Given the description of an element on the screen output the (x, y) to click on. 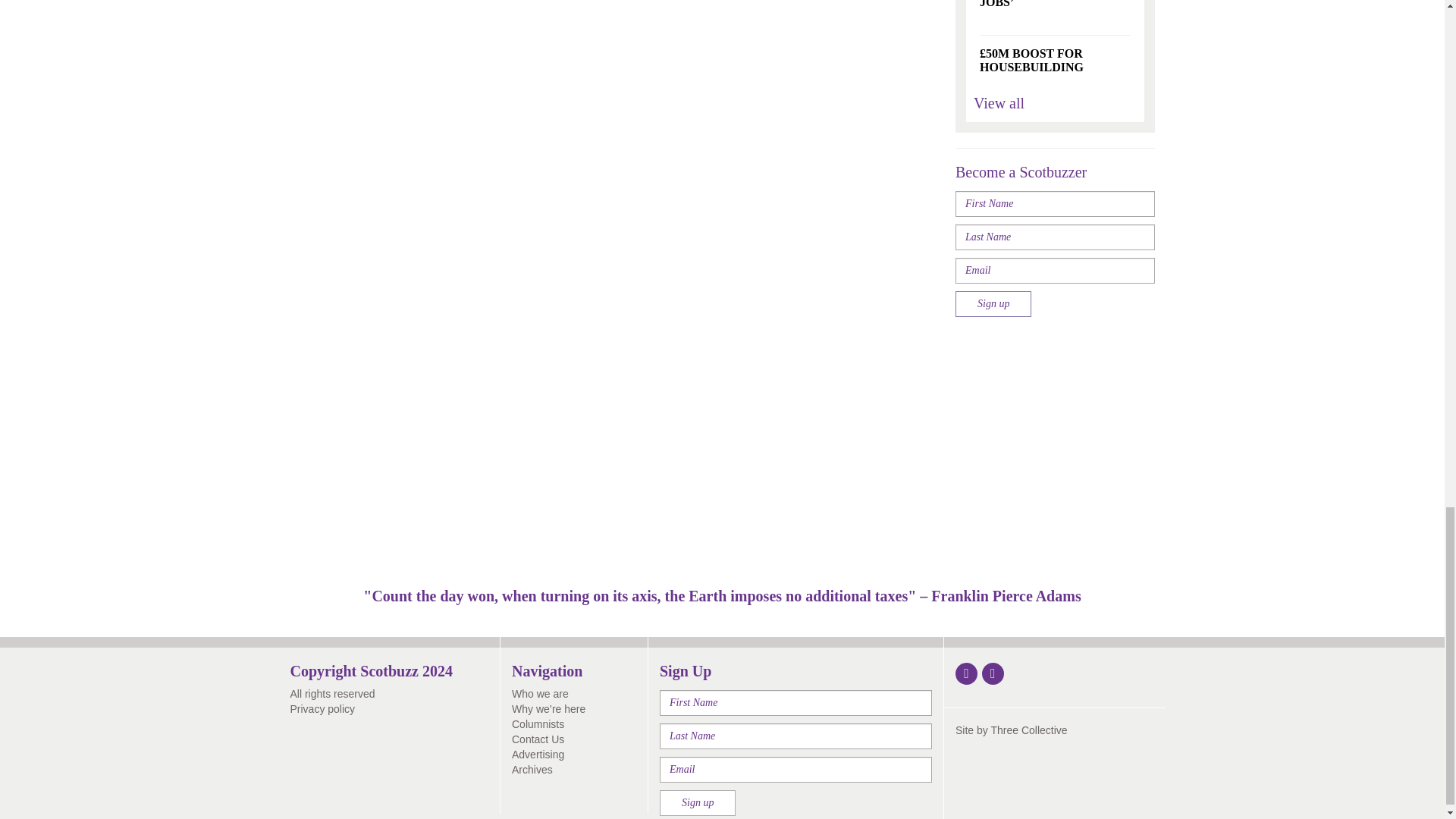
Who we are (540, 693)
Privacy policy (322, 708)
Advertising (538, 754)
Contact Us (538, 739)
View all (999, 103)
Sign up (697, 802)
Sign up (992, 303)
Archives (532, 769)
Three Collective (1028, 729)
Sign up (697, 802)
Sign up (992, 303)
Columnists (538, 724)
